Given the description of an element on the screen output the (x, y) to click on. 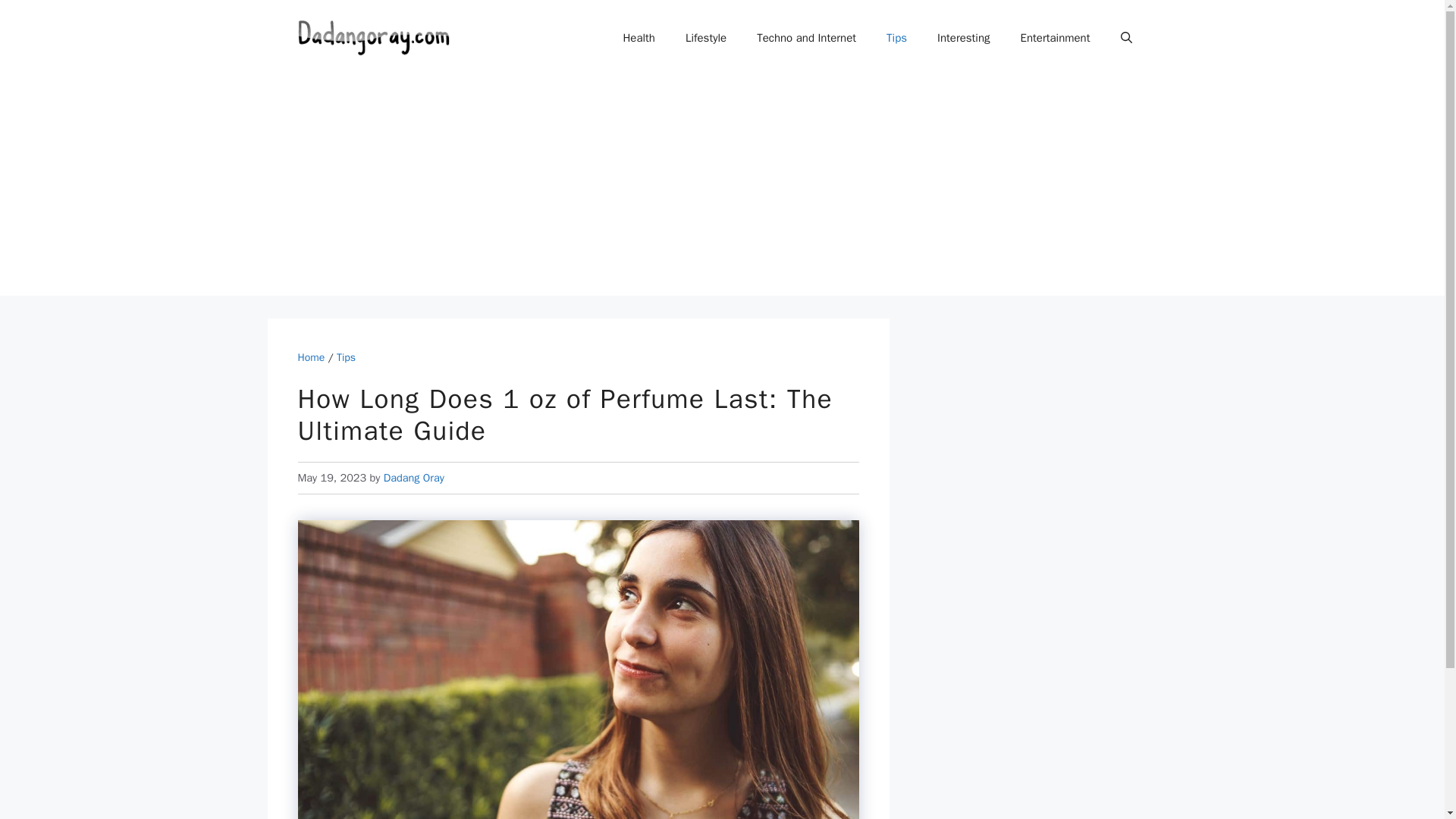
Techno and Internet (805, 37)
View all posts by Dadang Oray (414, 477)
Dadang Oray (414, 477)
Interesting (963, 37)
Entertainment (1055, 37)
Lifestyle (705, 37)
Health (638, 37)
Home (310, 357)
Tips (895, 37)
